Given the description of an element on the screen output the (x, y) to click on. 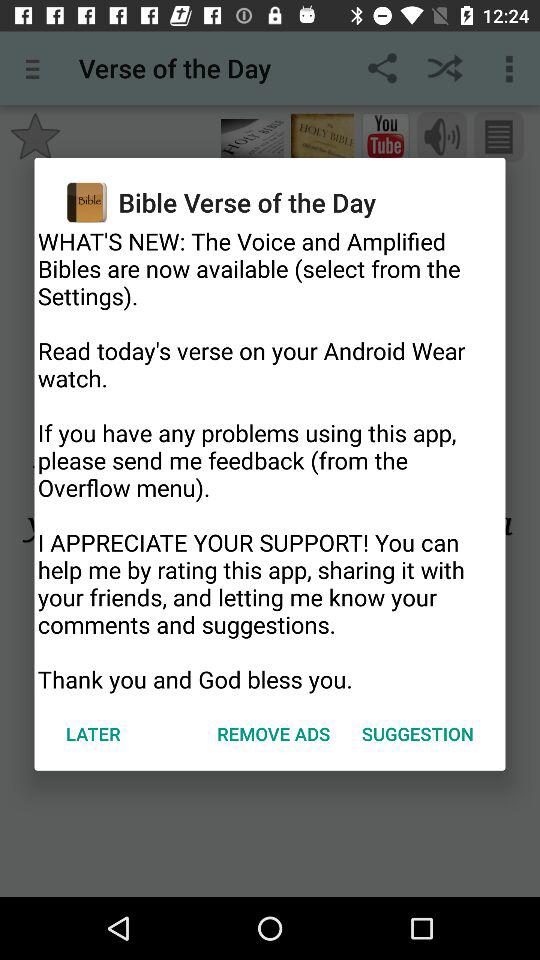
turn on the later icon (93, 733)
